Given the description of an element on the screen output the (x, y) to click on. 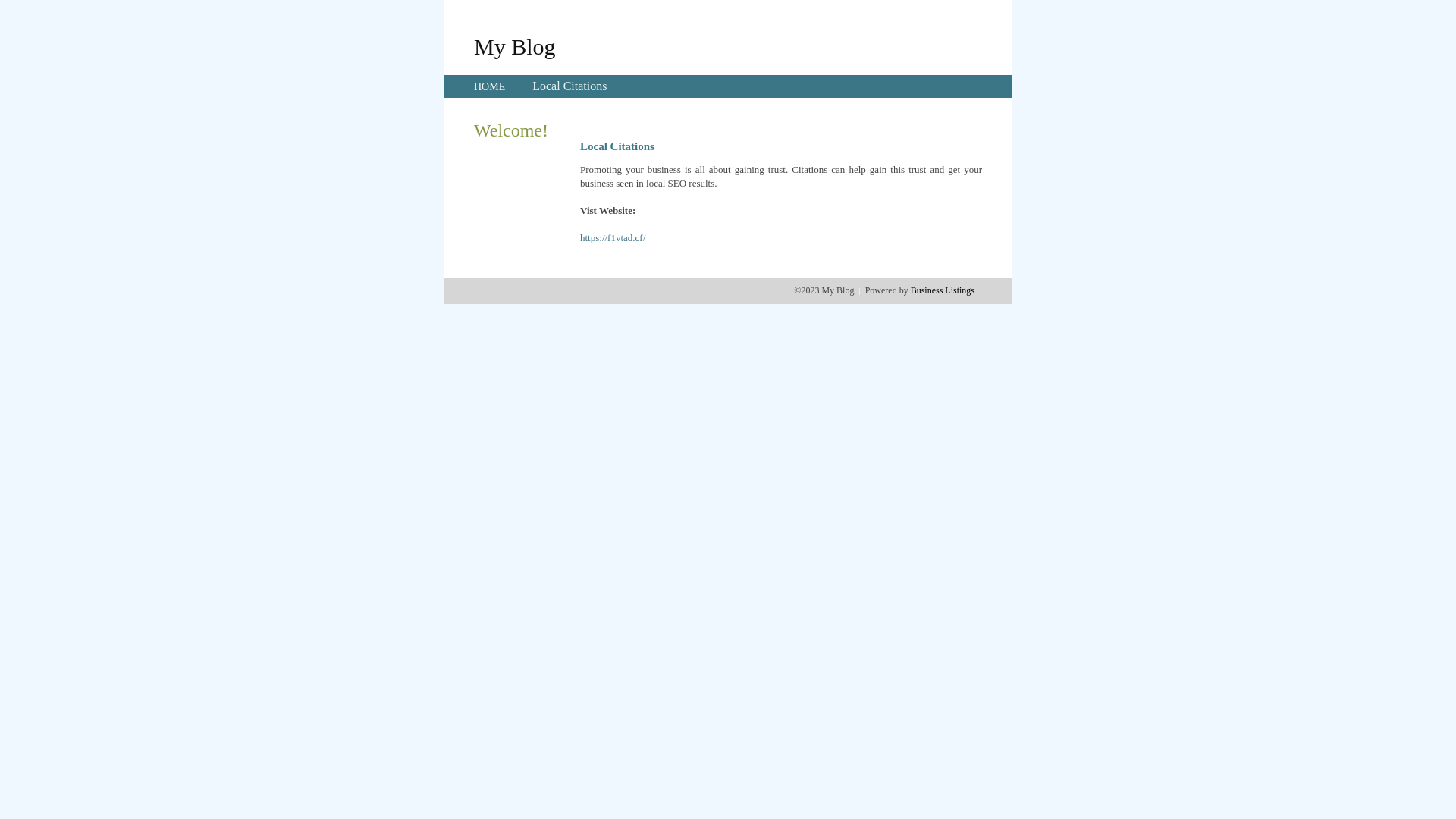
https://f1vtad.cf/ Element type: text (612, 237)
Business Listings Element type: text (942, 290)
Local Citations Element type: text (569, 85)
HOME Element type: text (489, 86)
My Blog Element type: text (514, 46)
